Given the description of an element on the screen output the (x, y) to click on. 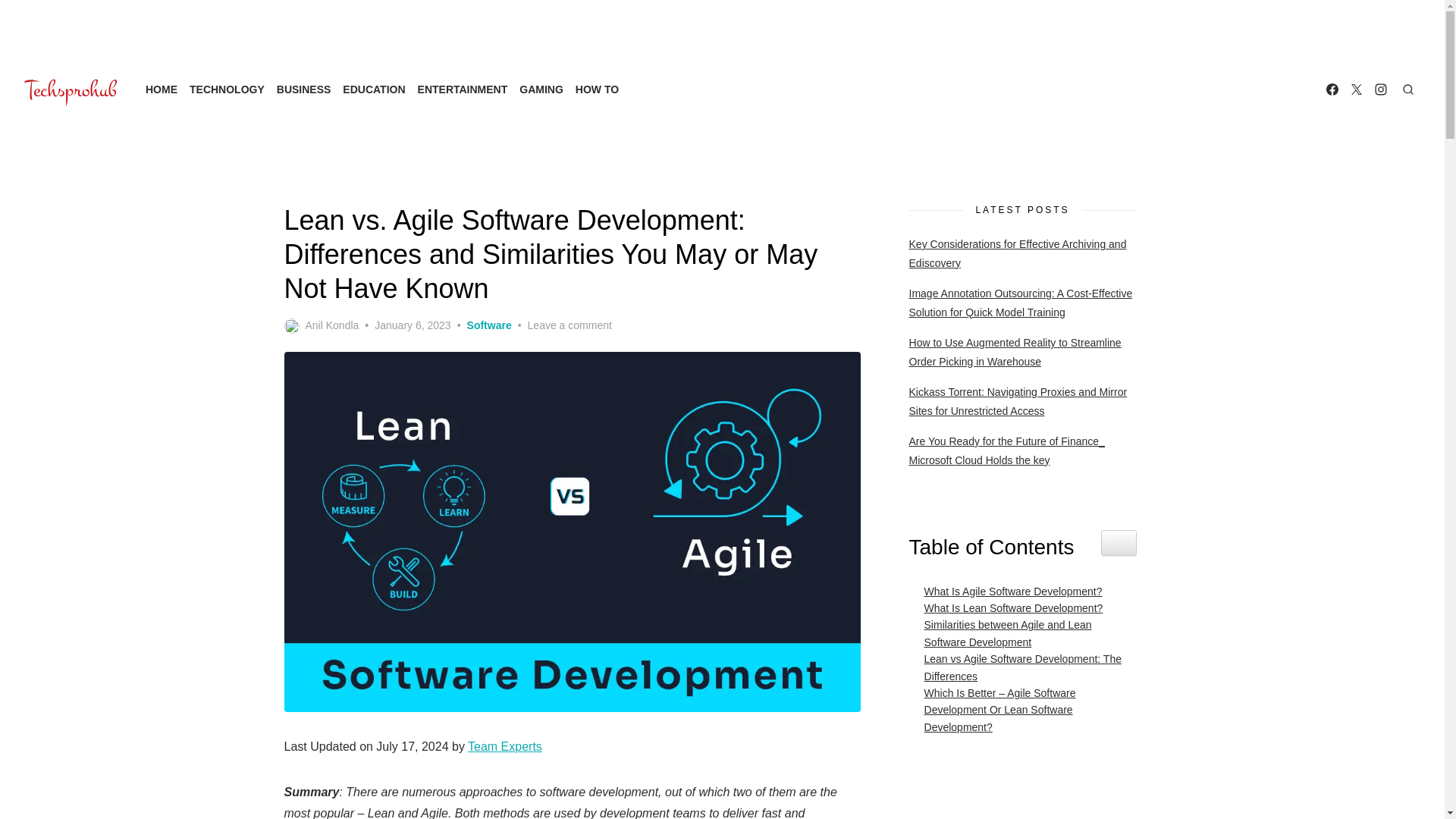
HOME (161, 88)
Leave a comment (569, 325)
Lean vs Agile Software Development: The Differences (1023, 667)
What Is Agile Software Development? (1009, 591)
HOW TO (596, 88)
January 6, 2023 (411, 325)
EDUCATION (373, 88)
ENTERTAINMENT (462, 88)
Software (489, 325)
Similarities between Agile and Lean Software Development (1023, 633)
